Given the description of an element on the screen output the (x, y) to click on. 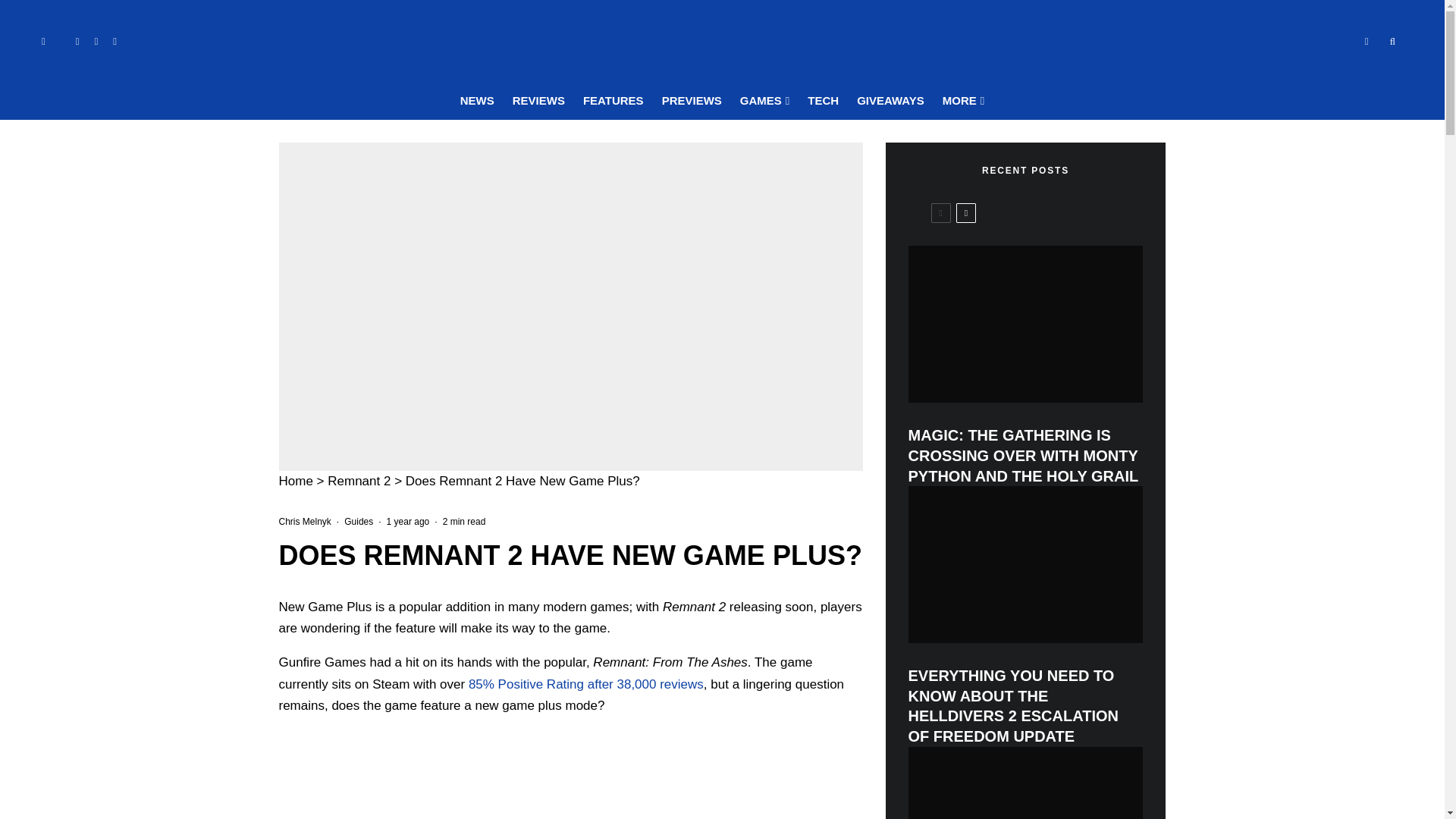
REVIEWS (538, 100)
NEWS (477, 100)
